Given the description of an element on the screen output the (x, y) to click on. 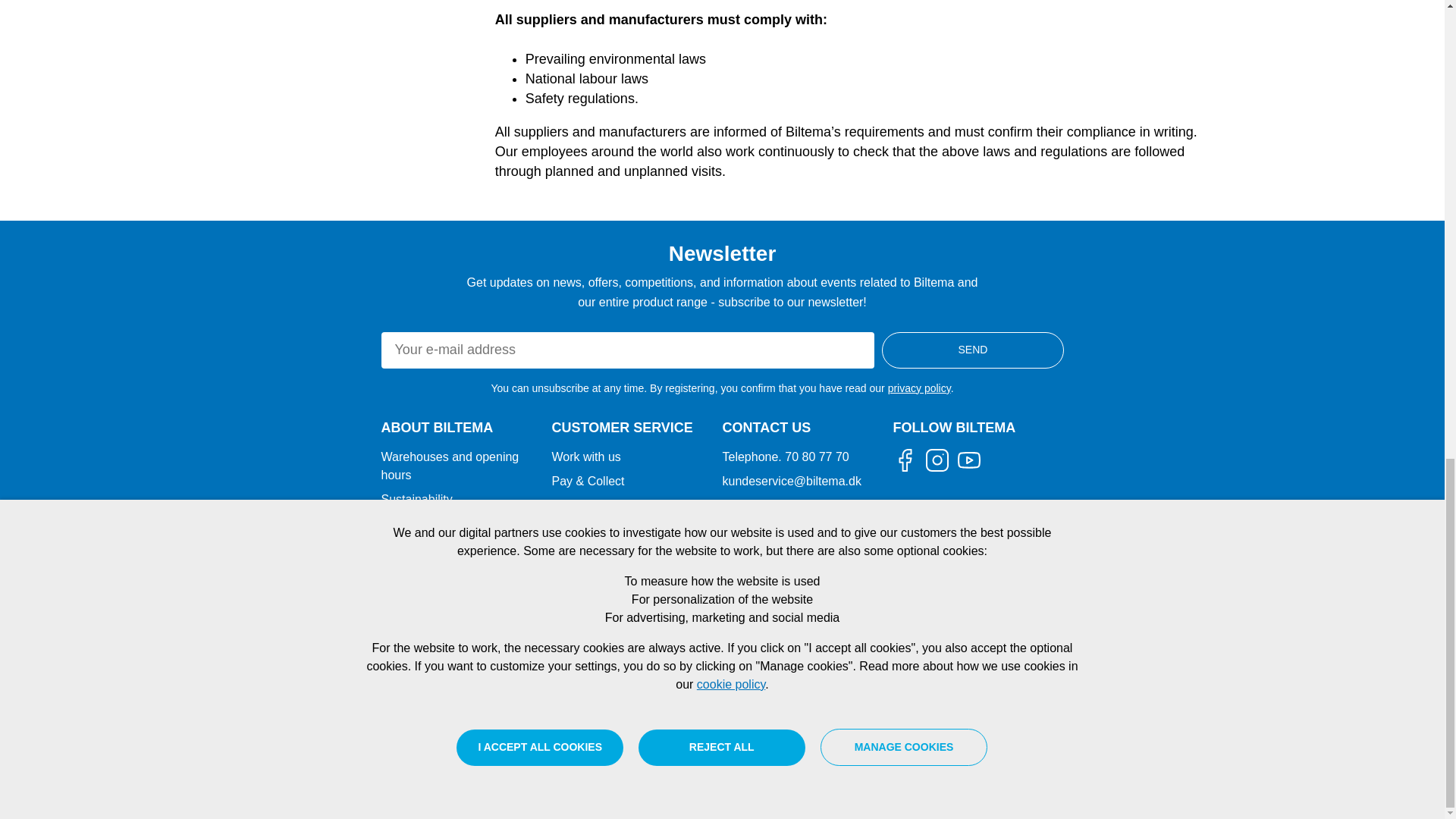
Giftcard (636, 531)
Biltema card (636, 556)
Document search (454, 598)
Send (972, 350)
Newsletter (454, 574)
